Given the description of an element on the screen output the (x, y) to click on. 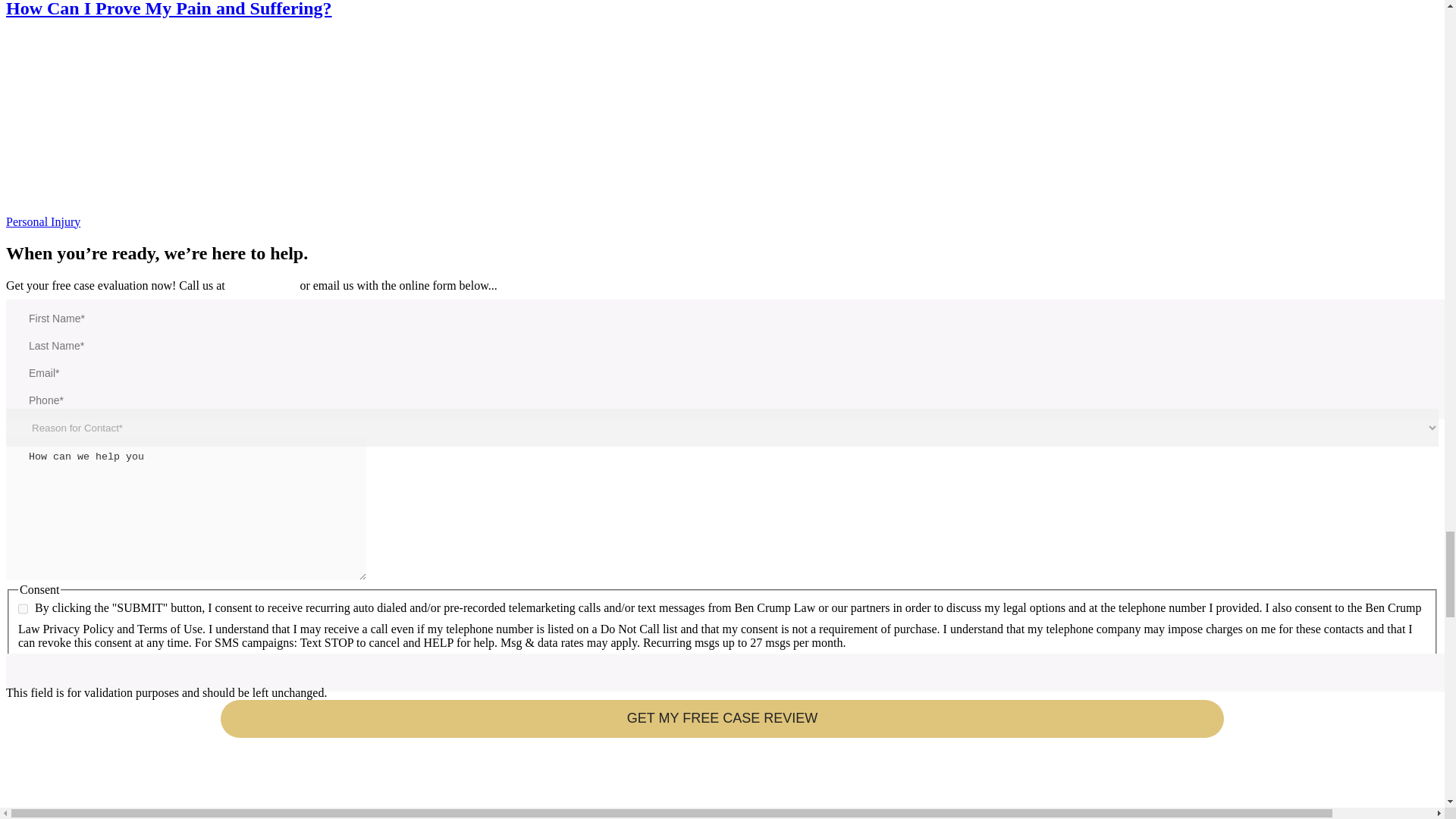
GET MY FREE CASE REVIEW (722, 718)
